Given the description of an element on the screen output the (x, y) to click on. 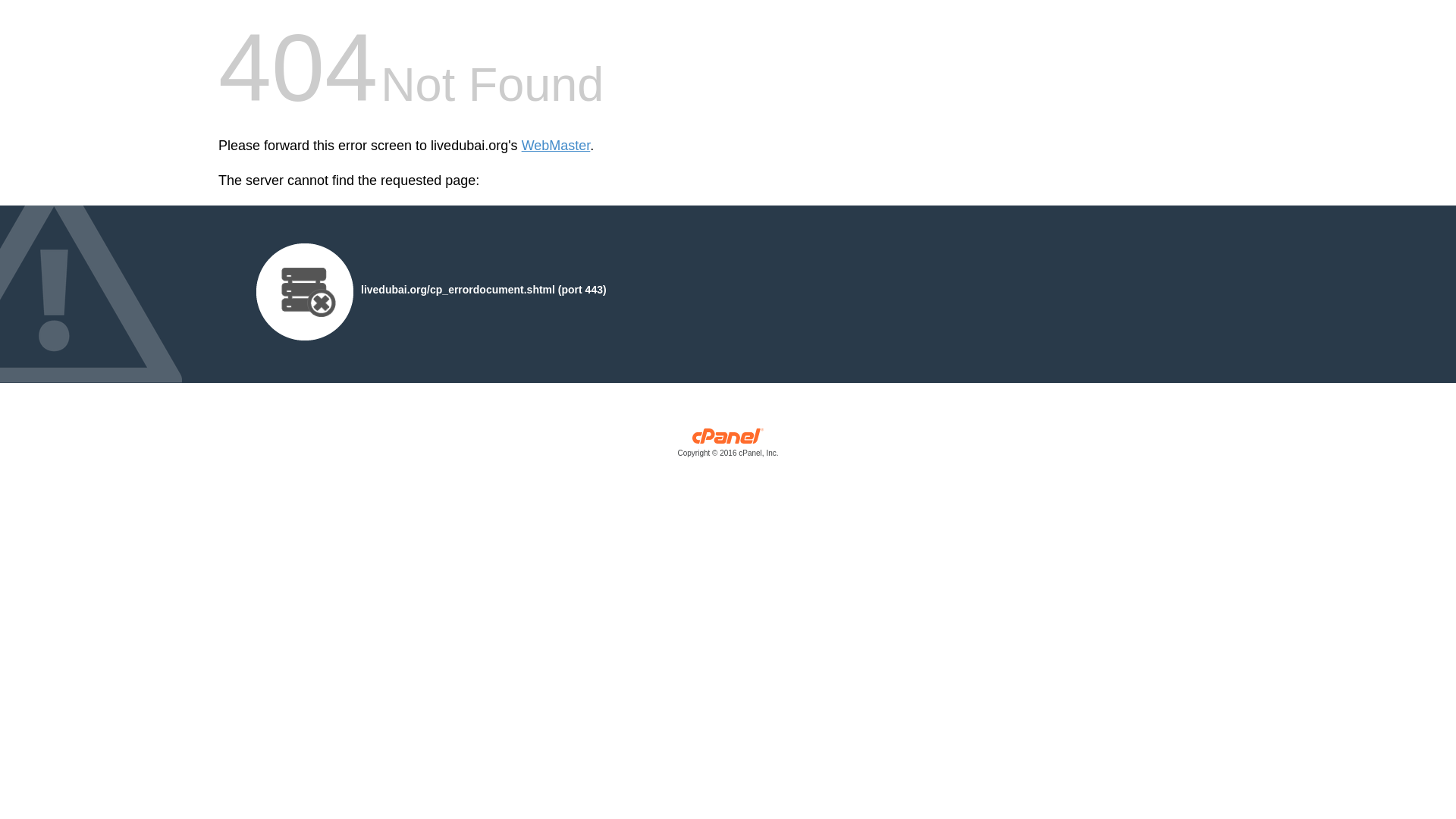
WebMaster (556, 145)
cPanel, Inc. (727, 446)
